Given the description of an element on the screen output the (x, y) to click on. 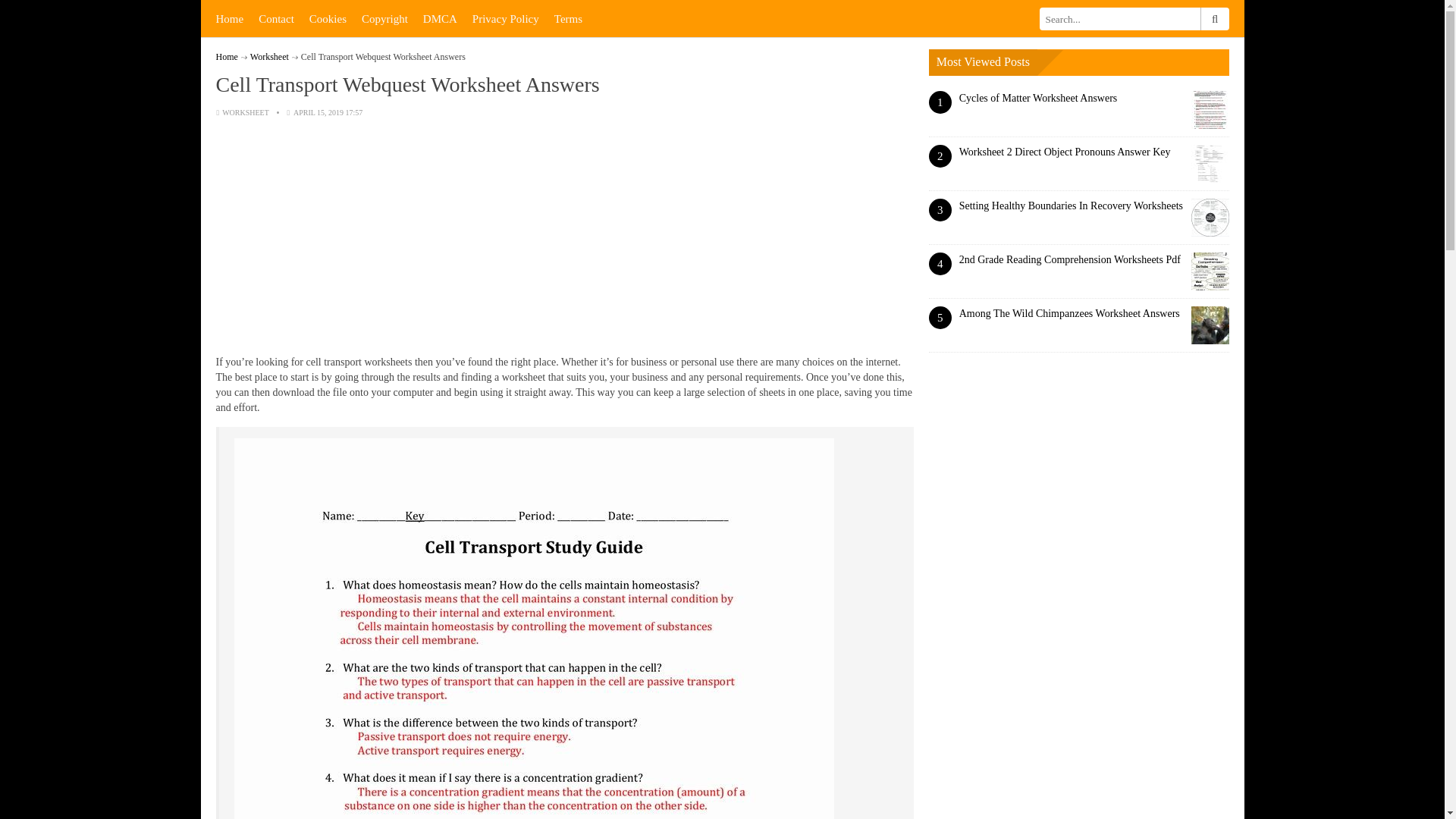
2nd Grade Reading Comprehension Worksheets Pdf (1069, 259)
Home (229, 18)
Contact (275, 18)
Setting Healthy Boundaries In Recovery Worksheets (1070, 205)
Search (1213, 18)
Worksheet 2 Direct Object Pronouns Answer Key (1064, 152)
Worksheet (269, 56)
Copyright (383, 18)
Privacy Policy (505, 18)
Cycles of Matter Worksheet Answers (1038, 98)
DMCA (439, 18)
Home (226, 56)
WORKSHEET (245, 112)
Terms (568, 18)
